Given the description of an element on the screen output the (x, y) to click on. 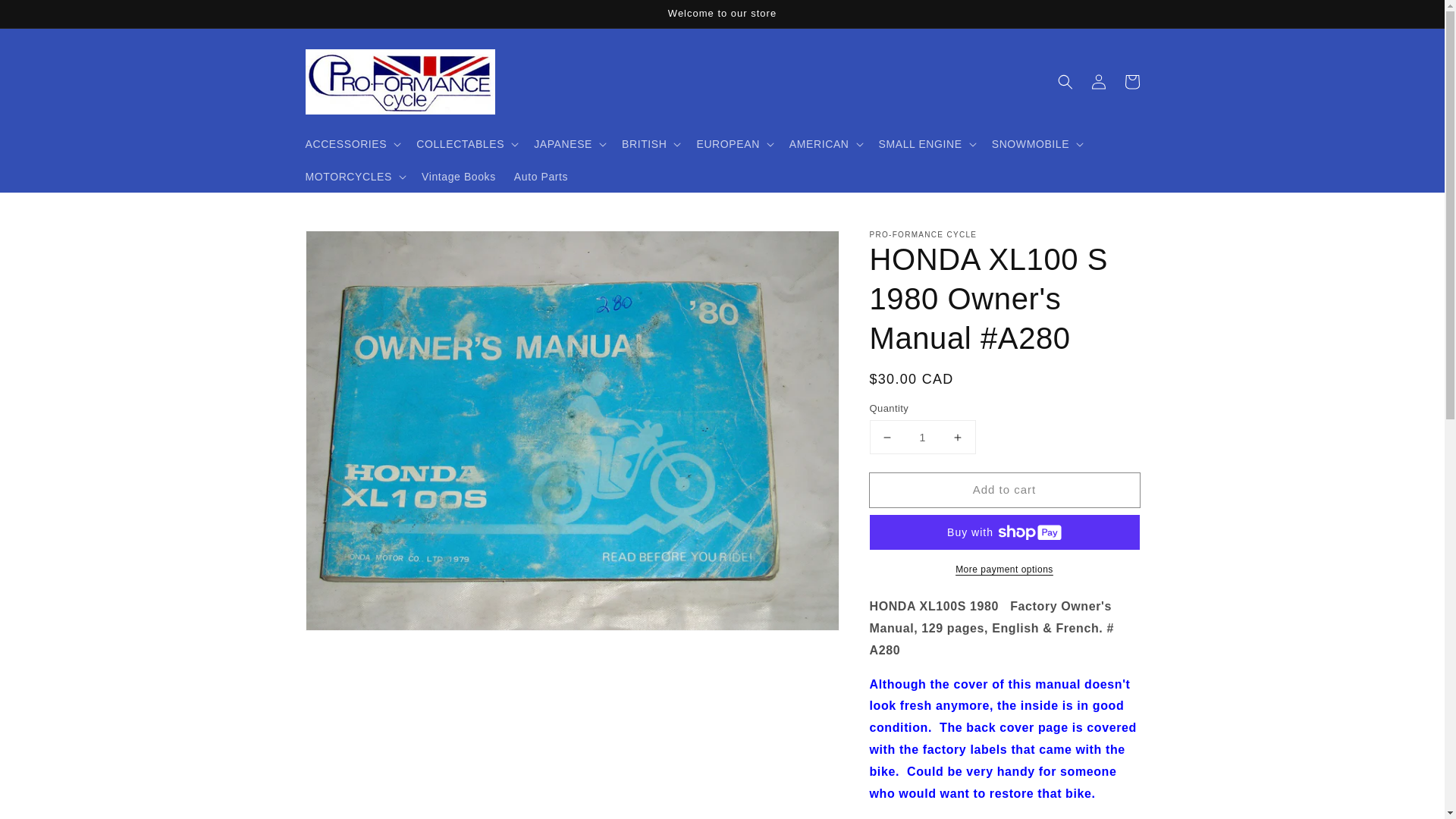
1 (922, 436)
Skip to content (45, 16)
